Given the description of an element on the screen output the (x, y) to click on. 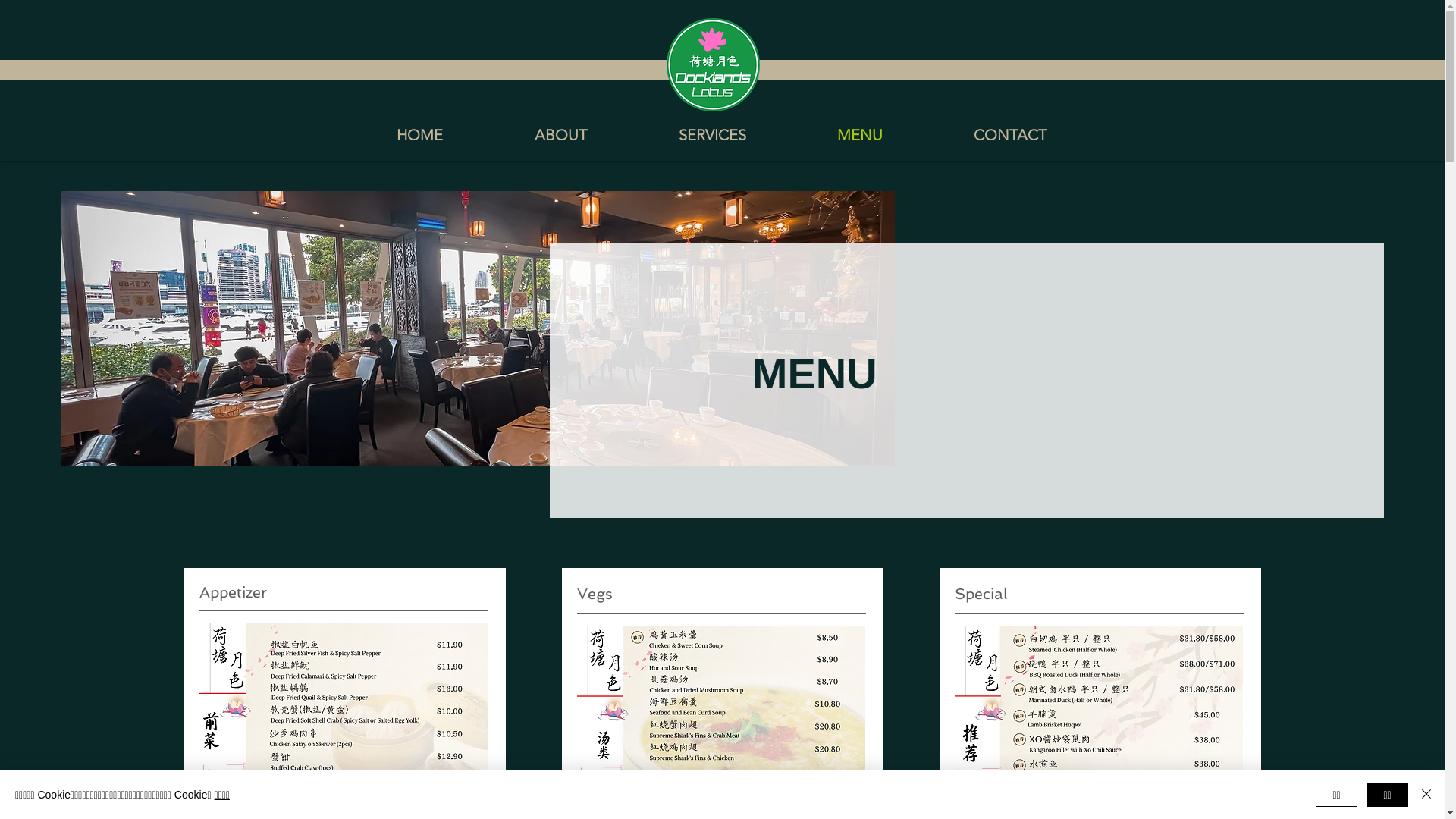
CONTACT Element type: text (1010, 134)
HOME Element type: text (419, 134)
SERVICES Element type: text (711, 134)
MENU Element type: text (859, 134)
ABOUT Element type: text (560, 134)
